Given the description of an element on the screen output the (x, y) to click on. 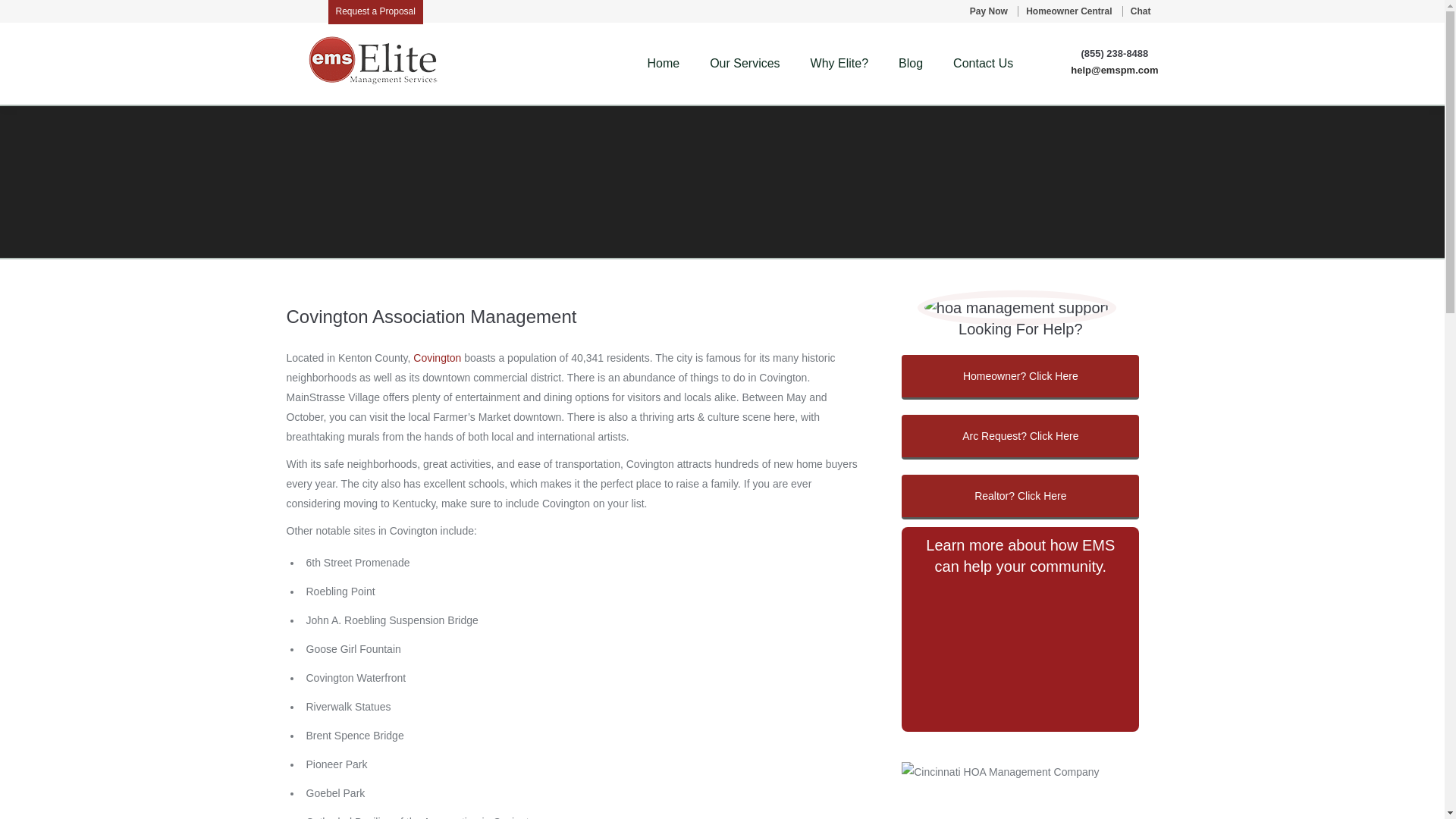
Request a Proposal (374, 12)
Why Elite? (838, 63)
Pay Now (991, 10)
Our Services (744, 63)
Homeowner Central (1068, 10)
Contact Us (982, 63)
Chat (1140, 10)
